Given the description of an element on the screen output the (x, y) to click on. 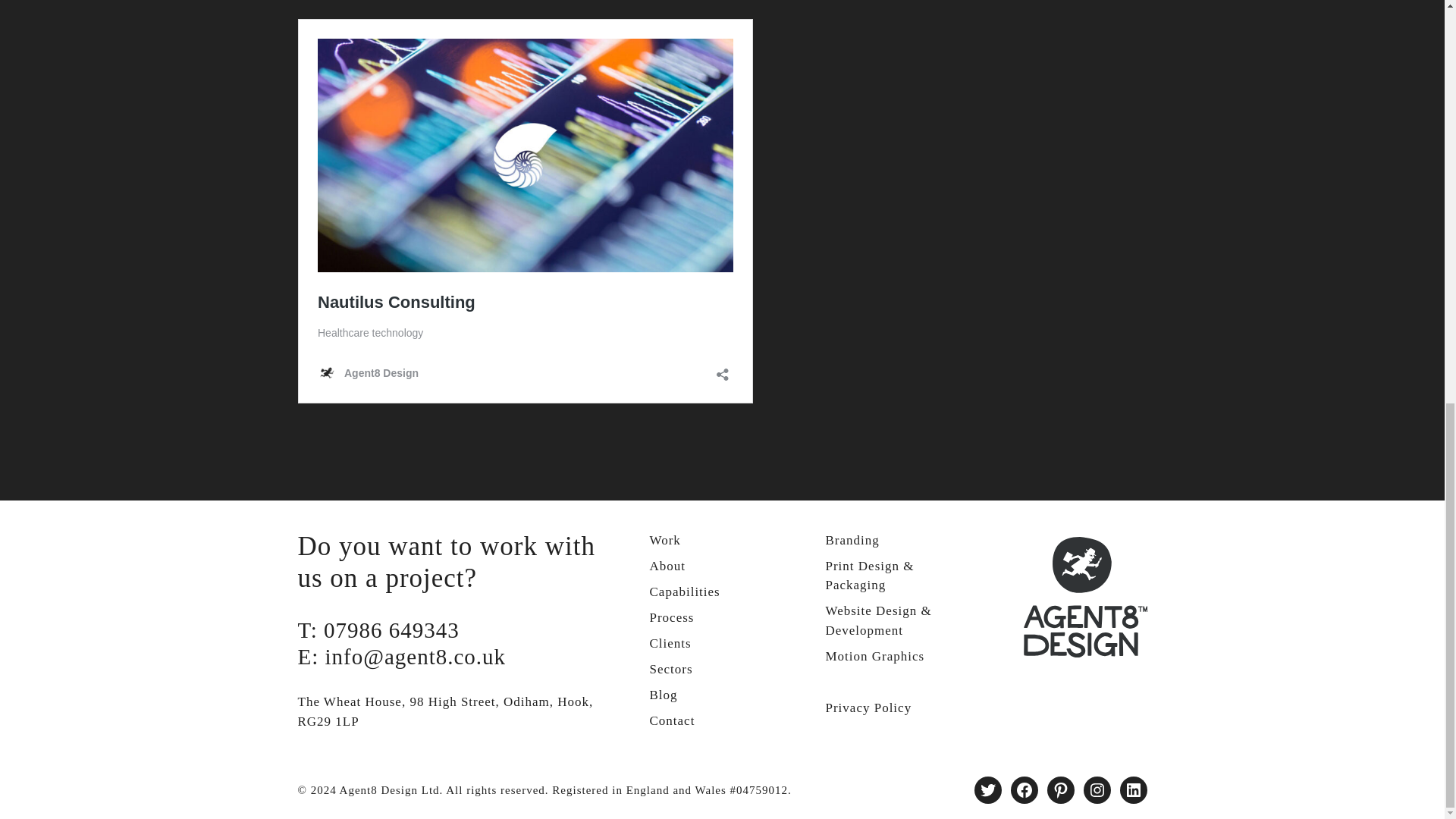
Capabilities (684, 591)
Process (671, 617)
Twitter (987, 789)
Clients (669, 643)
About (667, 565)
Privacy Policy (868, 707)
Scroll back to top (1406, 744)
Work (664, 540)
Motion Graphics (874, 656)
Blog (663, 694)
